Given the description of an element on the screen output the (x, y) to click on. 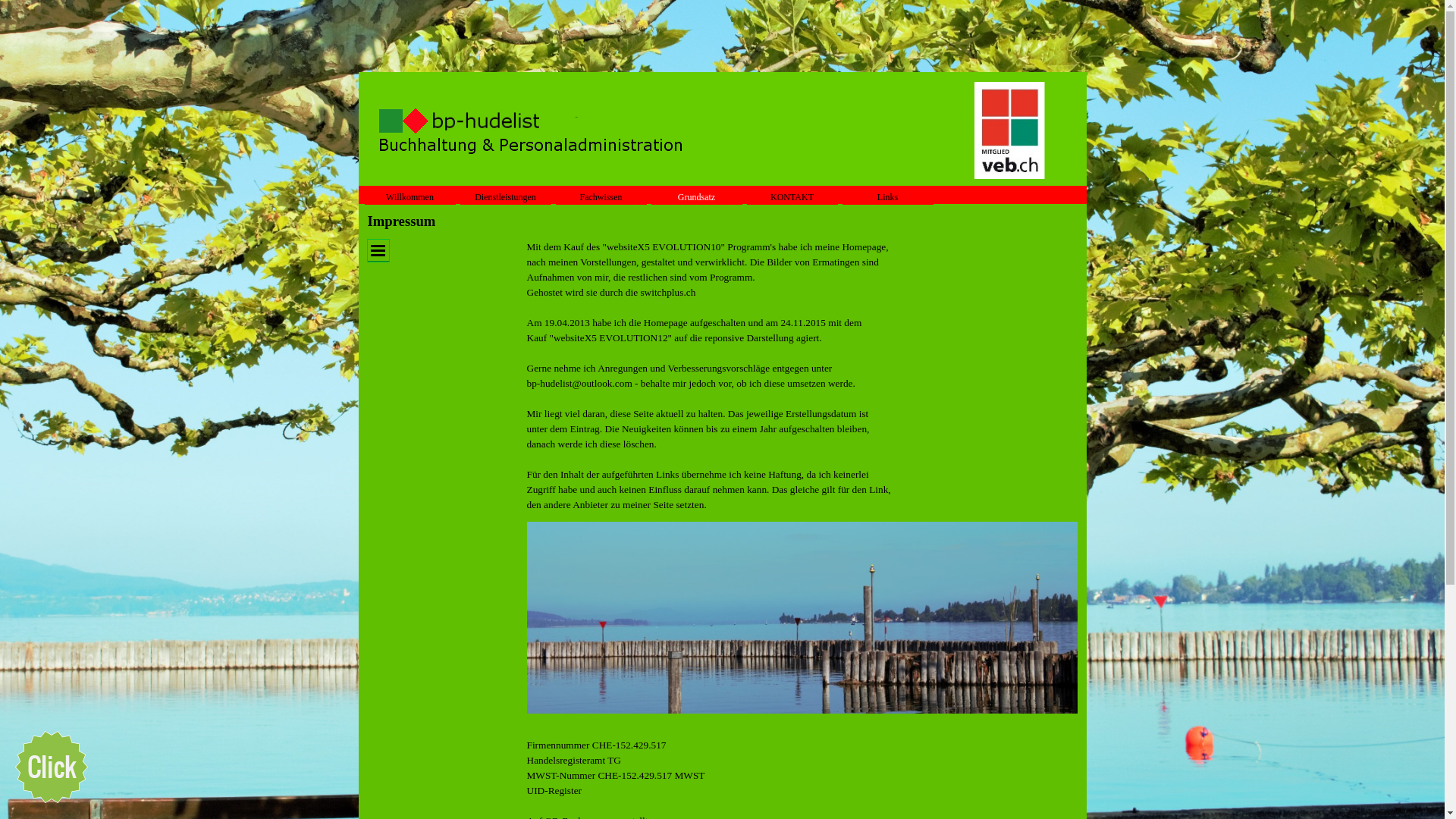
bp-hudelist@ Element type: text (553, 383)
Handelsregisteramt TG Element type: text (573, 759)
Willkommen Element type: text (409, 196)
UID-Register Element type: text (553, 790)
